Given the description of an element on the screen output the (x, y) to click on. 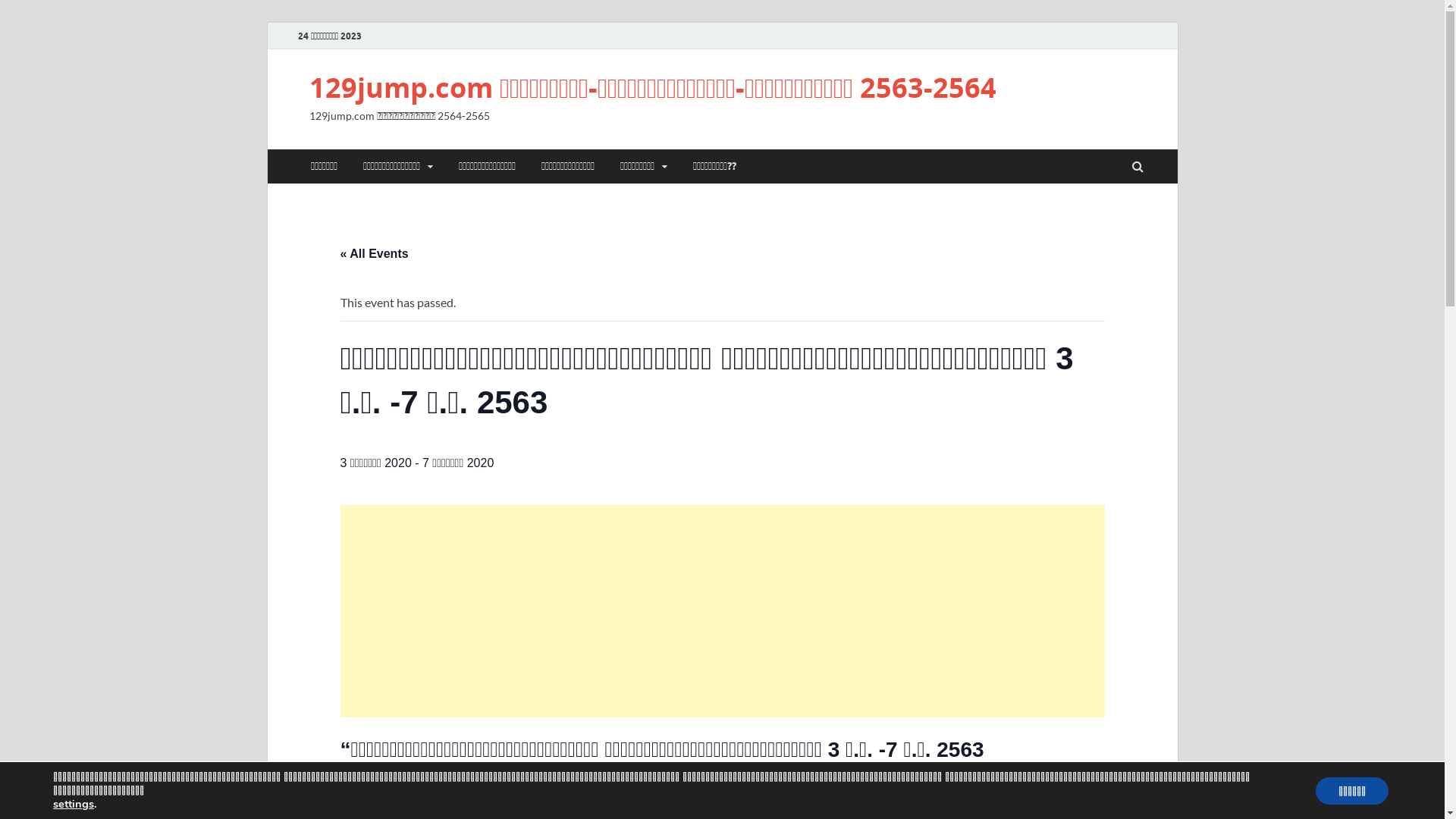
settings Element type: text (73, 803)
Advertisement Element type: hover (721, 611)
